Given the description of an element on the screen output the (x, y) to click on. 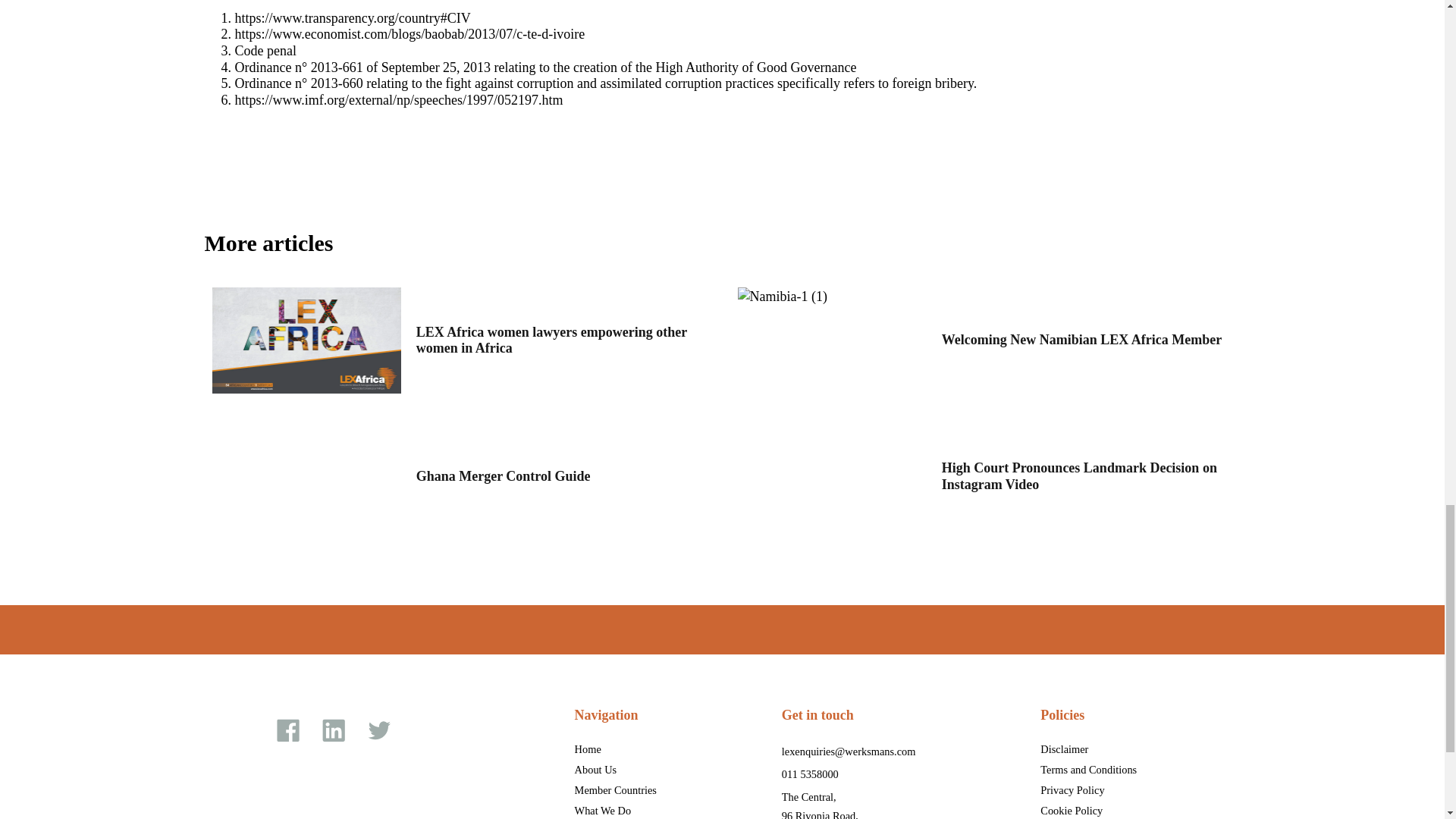
High Court Pronounces Landmark Decision on Instagram Video (831, 476)
Welcoming New Namibian LEX Africa Member (831, 340)
LEX Africa women lawyers empowering other women in Africa (306, 340)
Ghana Merger Control Guide (306, 476)
